Given the description of an element on the screen output the (x, y) to click on. 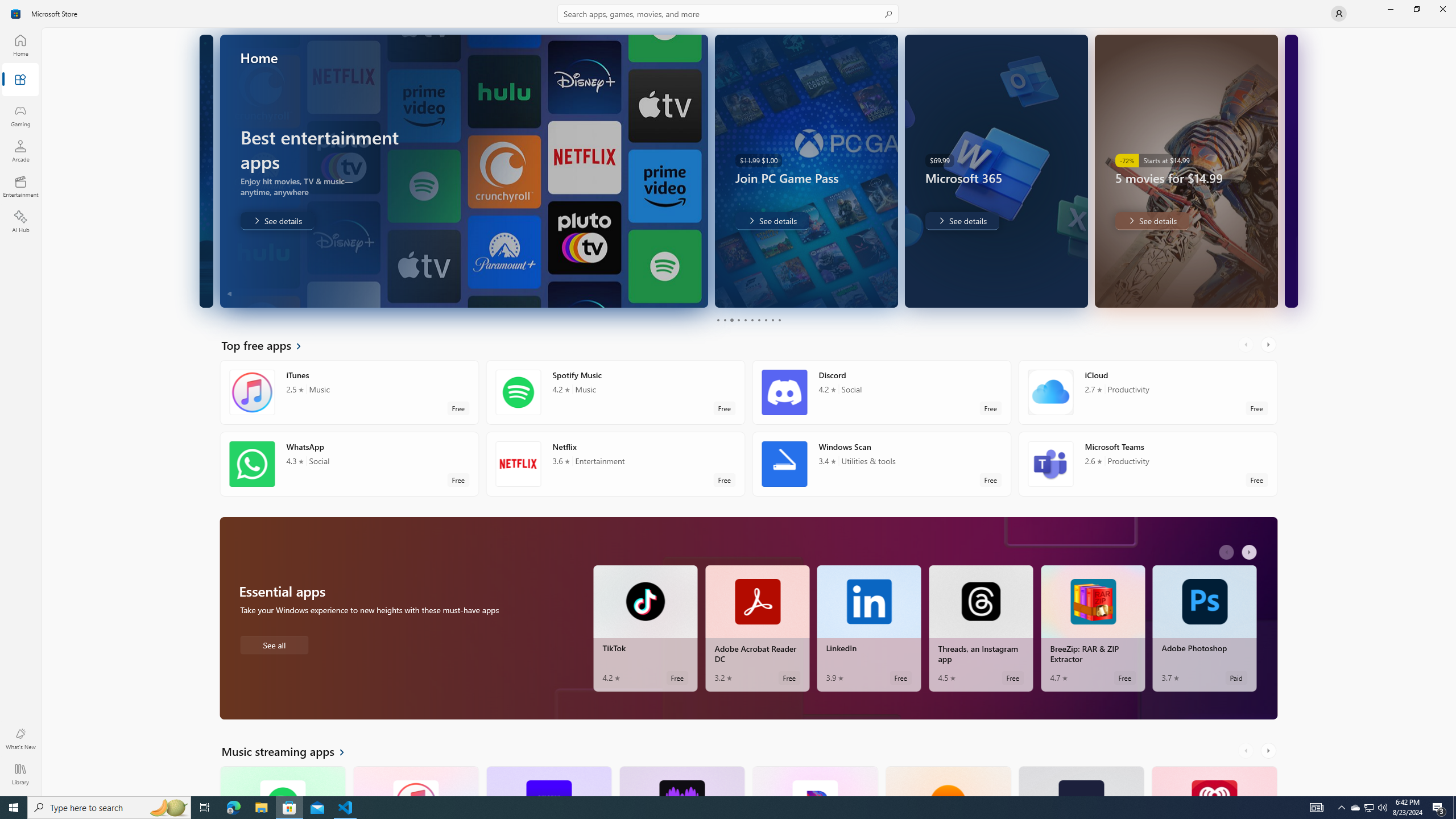
Page 1 (717, 319)
Page 5 (744, 319)
WhatsApp. Average rating of 4.3 out of five stars. Free   (349, 463)
Page 8 (764, 319)
Netflix. Average rating of 3.6 out of five stars. Free   (615, 463)
iCloud. Average rating of 2.7 out of five stars. Free   (1146, 392)
Page 7 (758, 319)
Entertainment (20, 185)
See all  Music streaming apps (289, 750)
AutomationID: LeftScrollButton (1246, 750)
Search (727, 13)
Page 4 (738, 319)
Restore Microsoft Store (1416, 9)
